Given the description of an element on the screen output the (x, y) to click on. 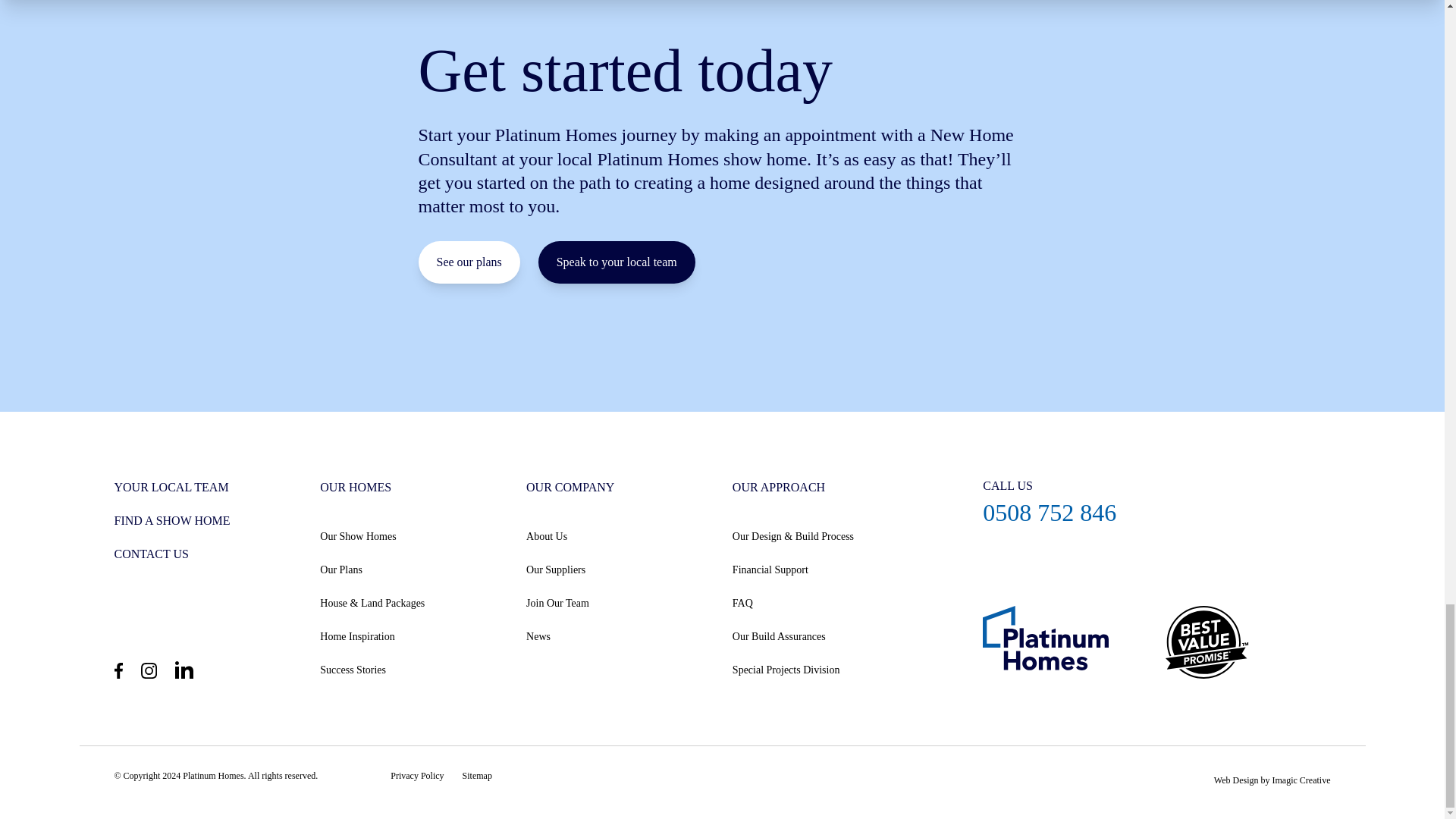
LinkedIn (183, 669)
Platinum Homes Logo (1063, 642)
Instagram (149, 670)
